Given the description of an element on the screen output the (x, y) to click on. 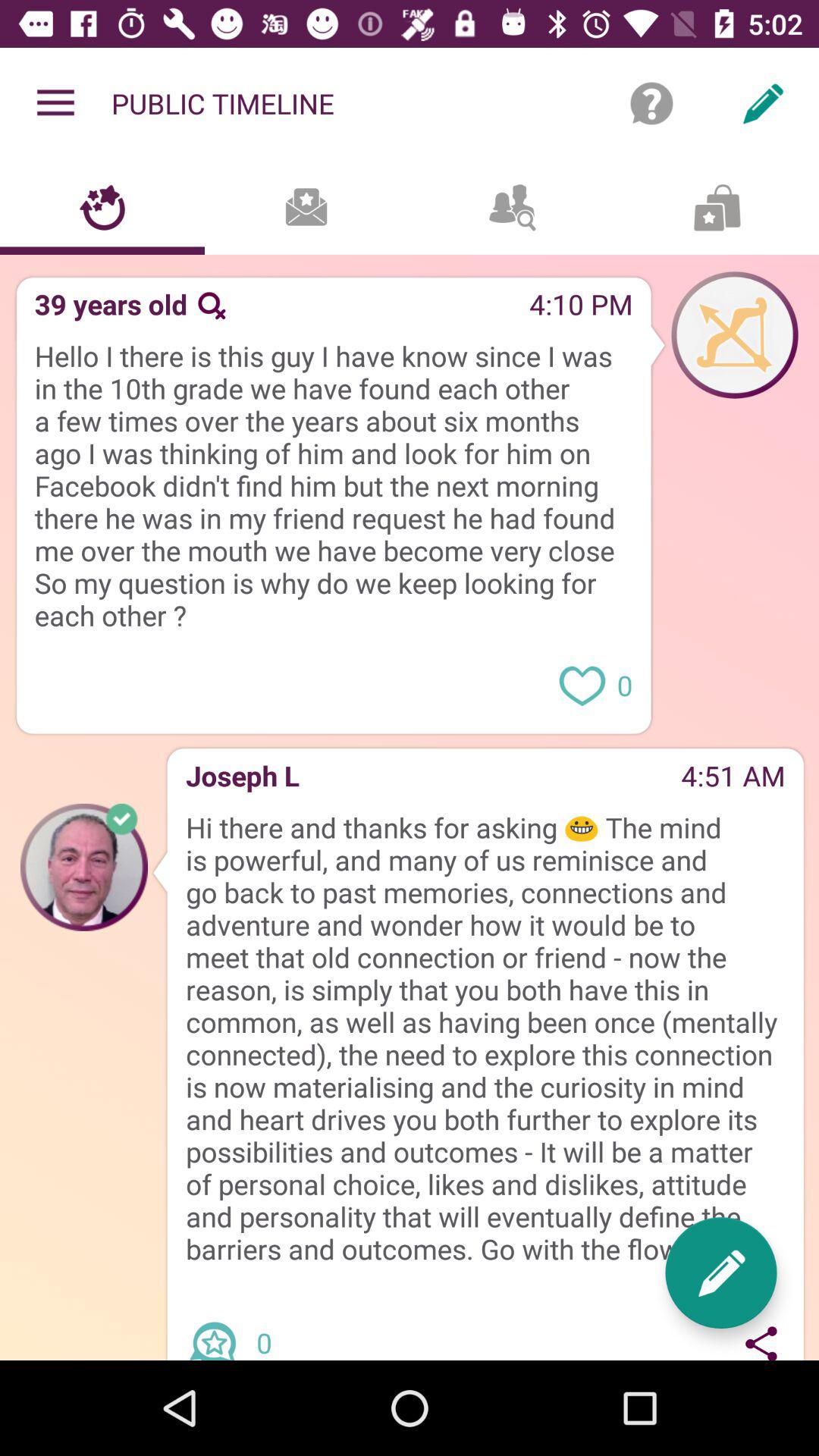
love a comment (582, 684)
